Given the description of an element on the screen output the (x, y) to click on. 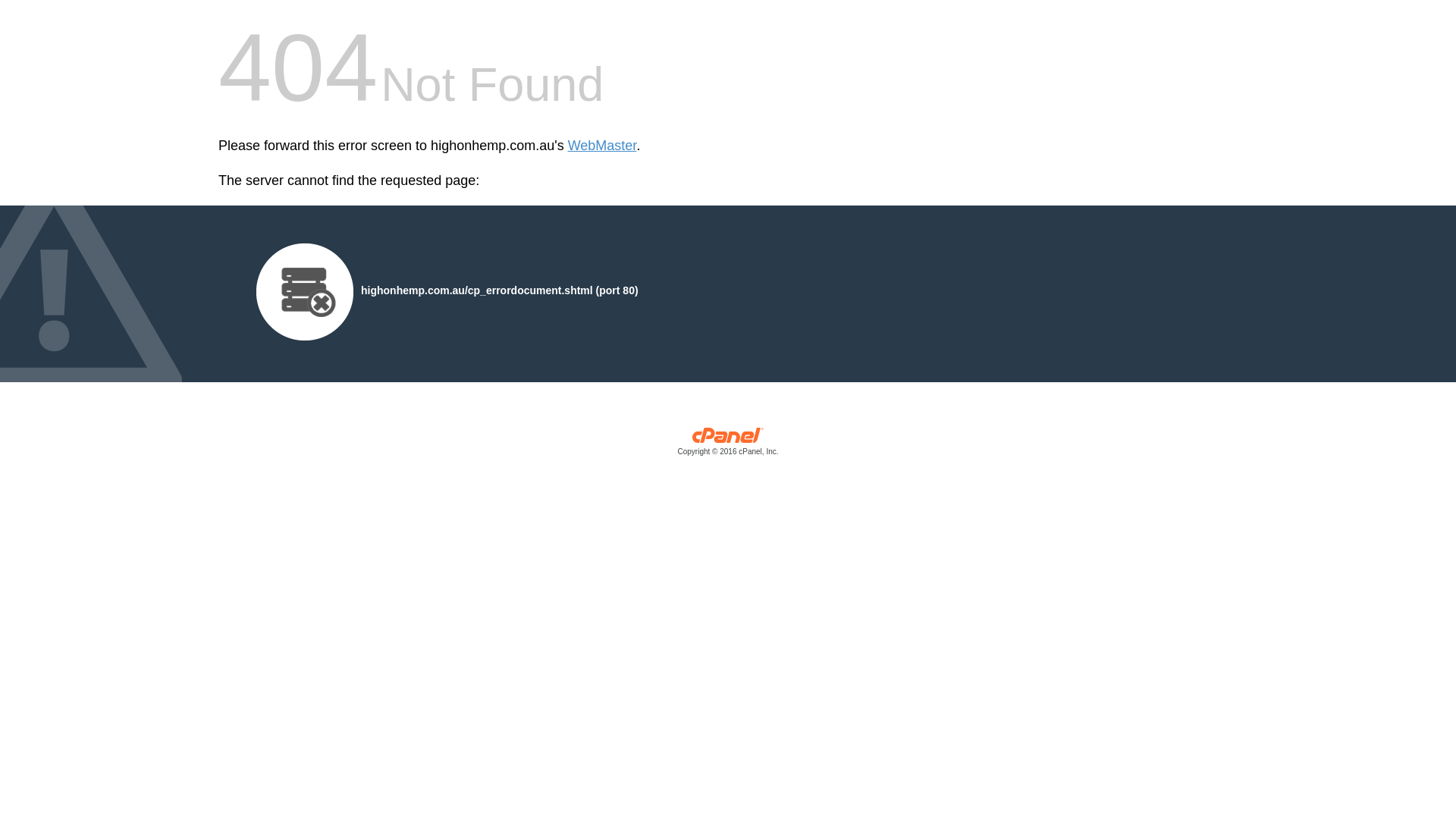
WebMaster Element type: text (602, 145)
